Given the description of an element on the screen output the (x, y) to click on. 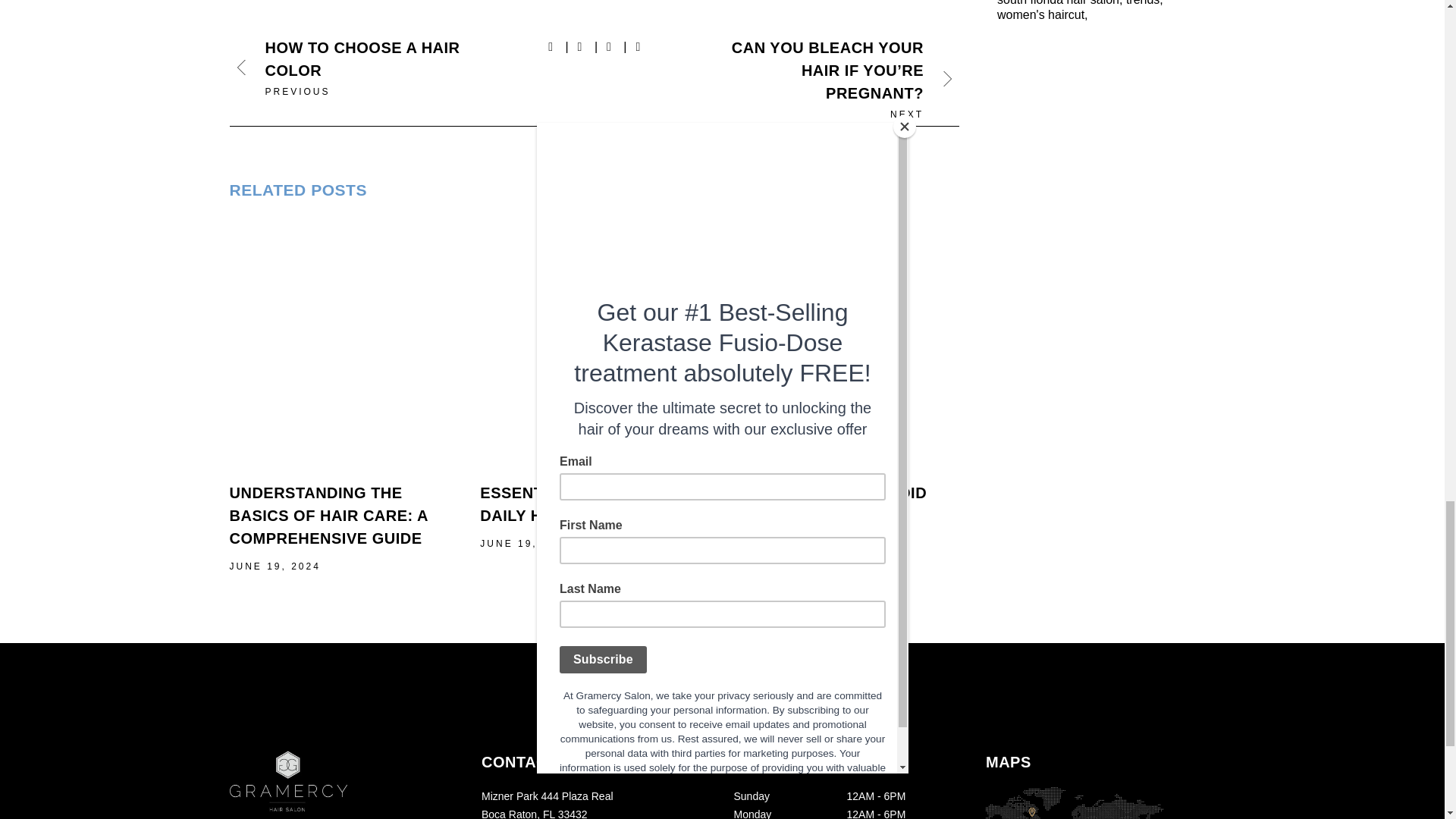
Top Mistakes to Avoid for Healthy Hair Maintenance (828, 515)
Understanding the Basics of Hair Care: A Comprehensive Guide (342, 343)
Essential Products for Daily Hair Care Routine (593, 343)
Understanding the Basics of Hair Care: A Comprehensive Guide (328, 515)
Essential Products for Daily Hair Care Routine (589, 504)
Top Mistakes to Avoid for Healthy Hair Maintenance (844, 343)
